Given the description of an element on the screen output the (x, y) to click on. 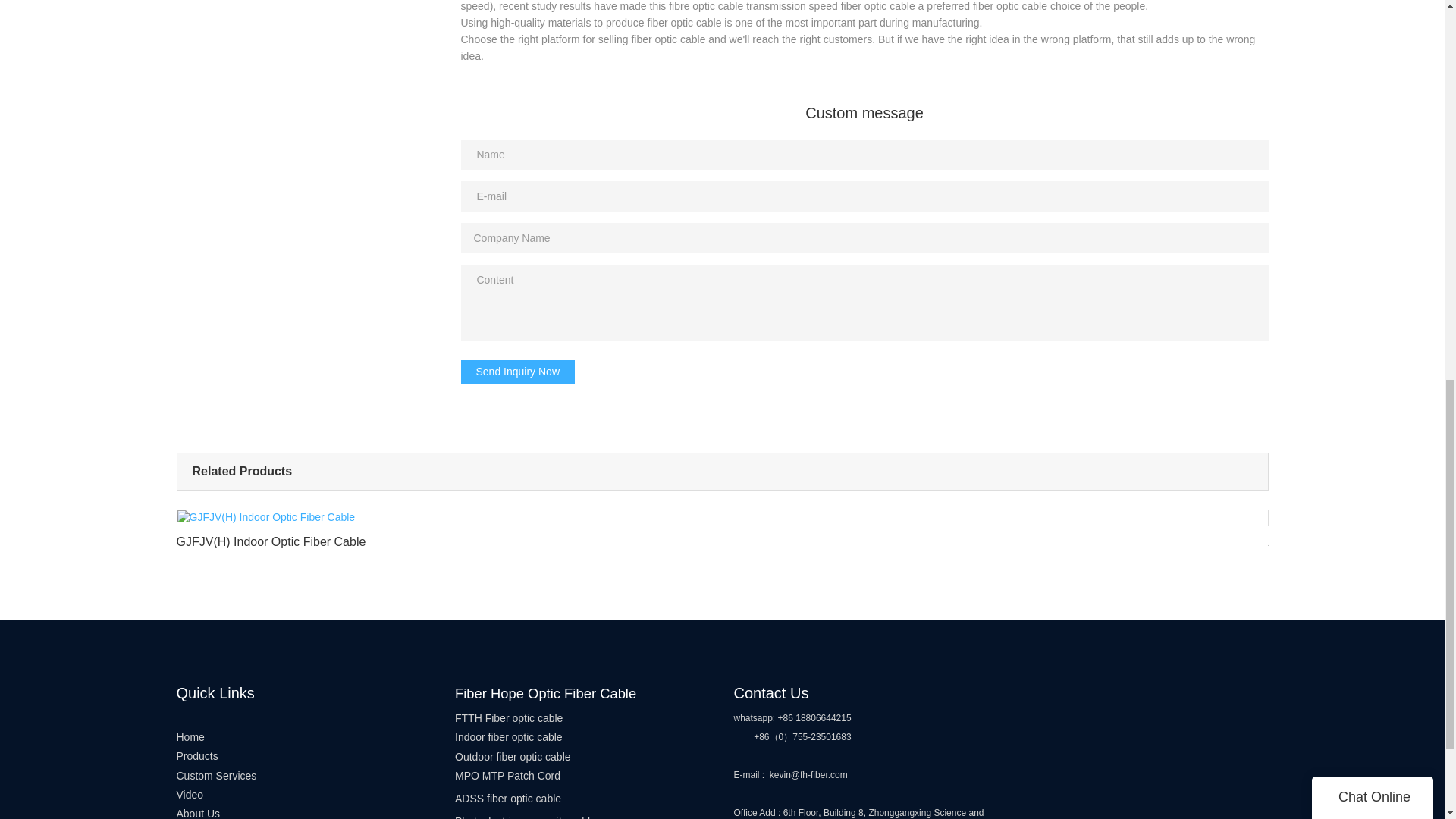
Send Inquiry Now (518, 372)
